Given the description of an element on the screen output the (x, y) to click on. 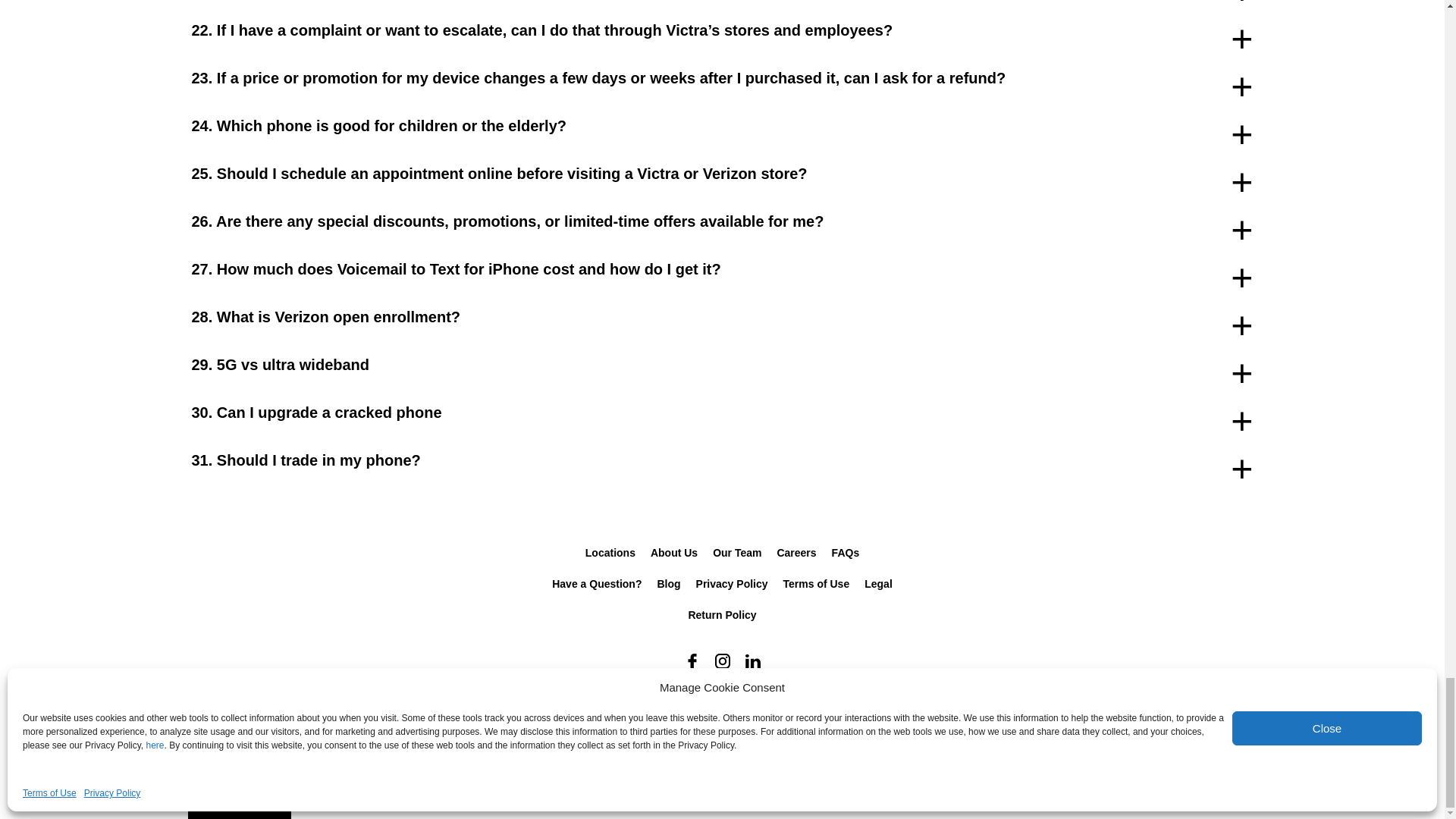
Linkedin (751, 661)
Instagram (721, 661)
Facebook (691, 661)
